Given the description of an element on the screen output the (x, y) to click on. 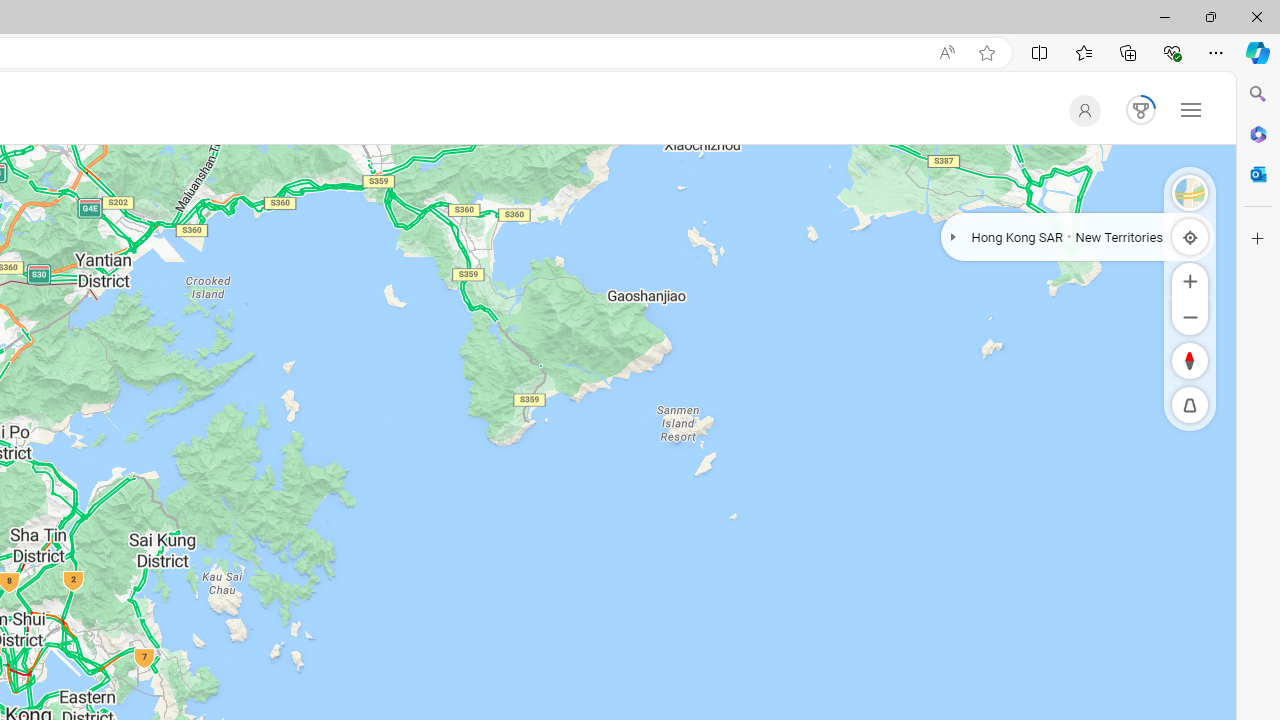
Settings and quick links (1190, 109)
Rotate Right (1171, 360)
Expand/Collapse Geochain (953, 236)
Select Style (1190, 192)
Road (1190, 192)
Satellite (1190, 192)
